Given the description of an element on the screen output the (x, y) to click on. 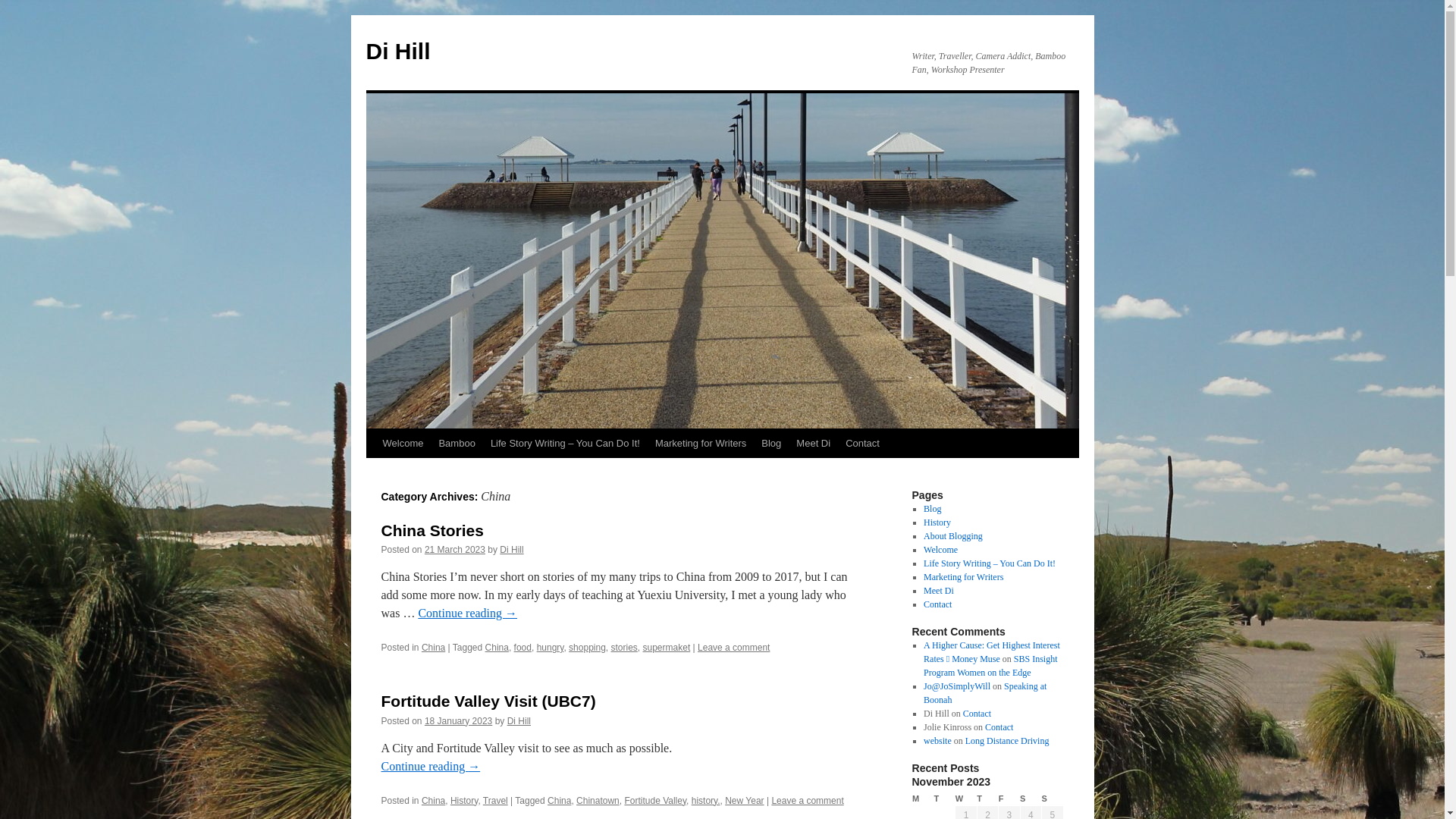
Chinatown Element type: text (597, 800)
China Element type: text (433, 800)
China Element type: text (496, 647)
Di Hill Element type: text (397, 50)
Marketing for Writers Element type: text (963, 576)
website Element type: text (937, 740)
Leave a comment Element type: text (733, 647)
Leave a comment Element type: text (807, 800)
21 March 2023 Element type: text (454, 549)
Jo@JoSimplyWill Element type: text (956, 685)
Travel Element type: text (495, 800)
stories Element type: text (624, 647)
Speaking at Boonah Element type: text (984, 692)
Di Hill Element type: text (518, 720)
18 January 2023 Element type: text (458, 720)
Blog Element type: text (770, 443)
SBS Insight Program Women on the Edge Element type: text (990, 665)
Contact Element type: text (999, 726)
Meet Di Element type: text (938, 590)
shopping Element type: text (586, 647)
New Year Element type: text (743, 800)
Contact Element type: text (862, 443)
Fortitude Valley Visit (UBC7) Element type: text (487, 700)
Contact Element type: text (937, 604)
China Element type: text (433, 647)
Welcome Element type: text (940, 549)
China Element type: text (559, 800)
Blog Element type: text (932, 508)
History Element type: text (936, 522)
Skip to content Element type: text (372, 471)
history. Element type: text (705, 800)
Meet Di Element type: text (812, 443)
Marketing for Writers Element type: text (700, 443)
History Element type: text (463, 800)
Bamboo Element type: text (456, 443)
Long Distance Driving Element type: text (1007, 740)
Fortitude Valley Element type: text (655, 800)
food Element type: text (522, 647)
About Blogging Element type: text (952, 535)
China Stories Element type: text (431, 530)
Welcome Element type: text (402, 443)
Di Hill Element type: text (511, 549)
hungry Element type: text (550, 647)
Contact Element type: text (977, 713)
supermaket Element type: text (666, 647)
